Given the description of an element on the screen output the (x, y) to click on. 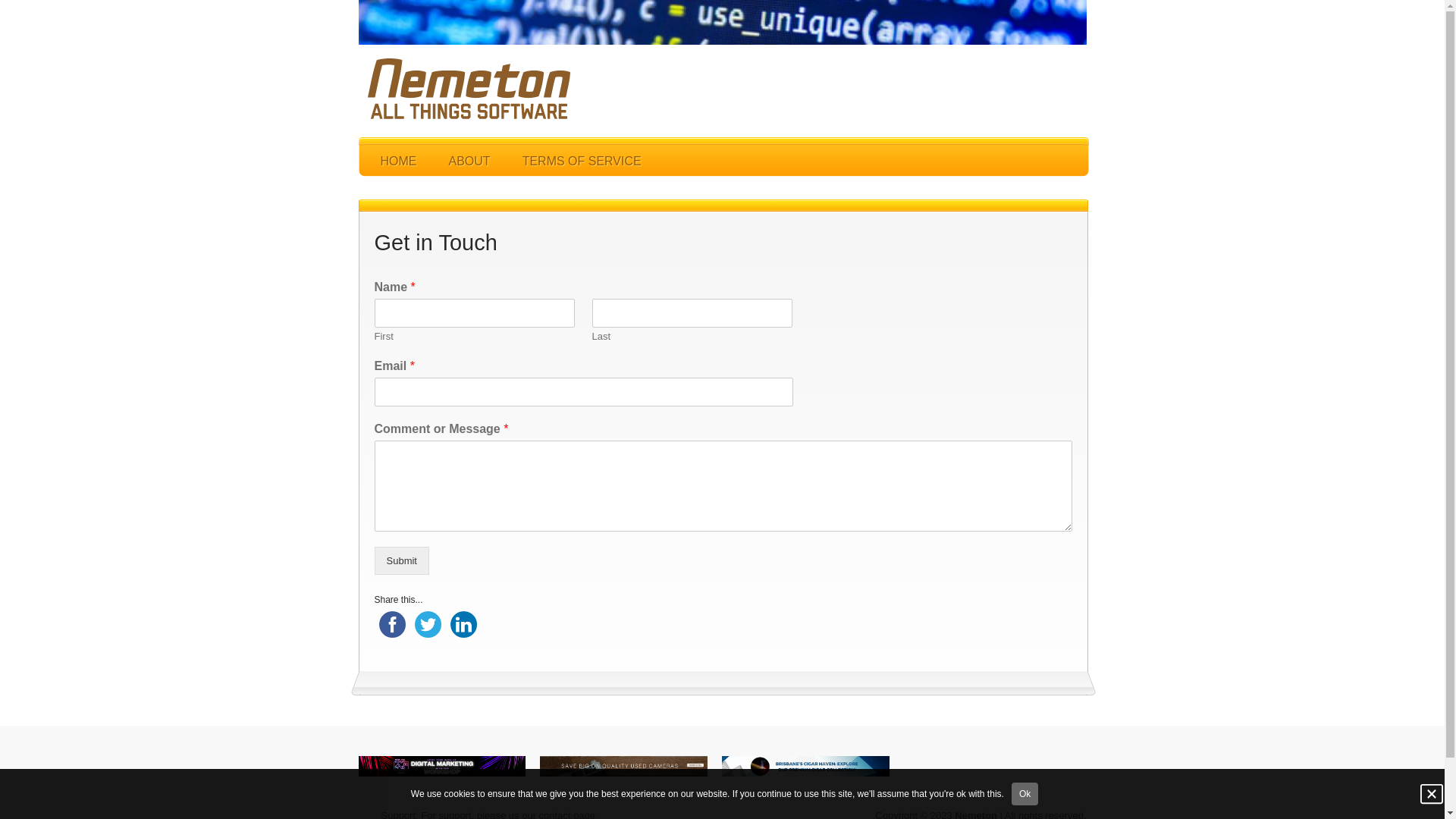
Submit Element type: text (401, 560)
HOME Element type: text (398, 160)
Twitter Element type: hover (427, 624)
LinkedIn Element type: hover (463, 624)
Ok Element type: text (1024, 793)
Facebook Element type: hover (392, 624)
TERMS OF SERVICE Element type: text (581, 160)
ABOUT Element type: text (468, 160)
Nemeton Element type: hover (465, 89)
